Given the description of an element on the screen output the (x, y) to click on. 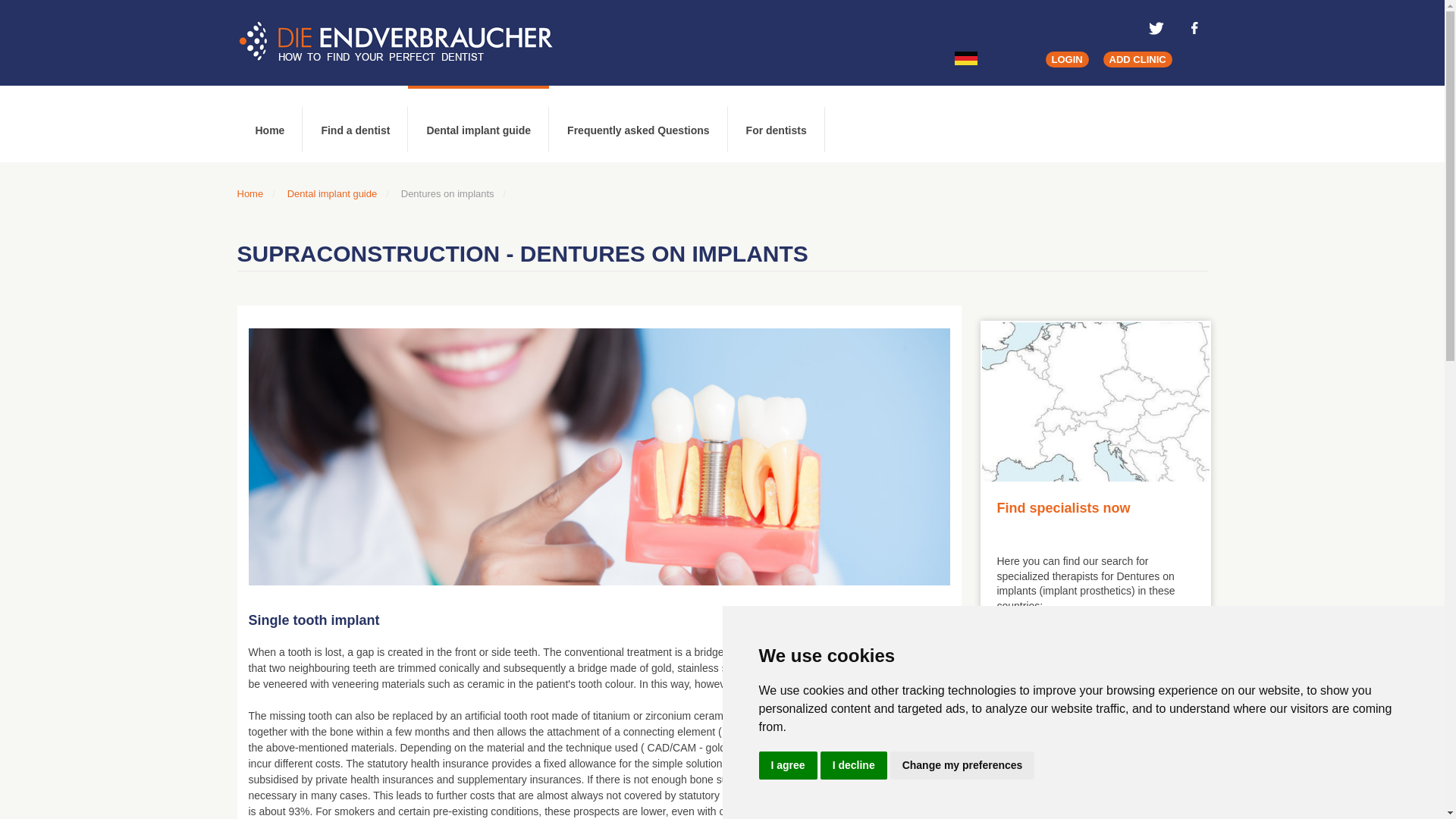
Change my preferences (962, 765)
For dentists (776, 123)
Find a dentist (354, 123)
For dentists (776, 123)
ADD CLINIC (1137, 59)
Home (249, 193)
Dental implant guide (331, 193)
LOGIN (1066, 59)
I agree (787, 765)
Find a dentist (354, 123)
Dental implant guide (477, 123)
Frequently asked Questions (638, 123)
I decline (853, 765)
